Given the description of an element on the screen output the (x, y) to click on. 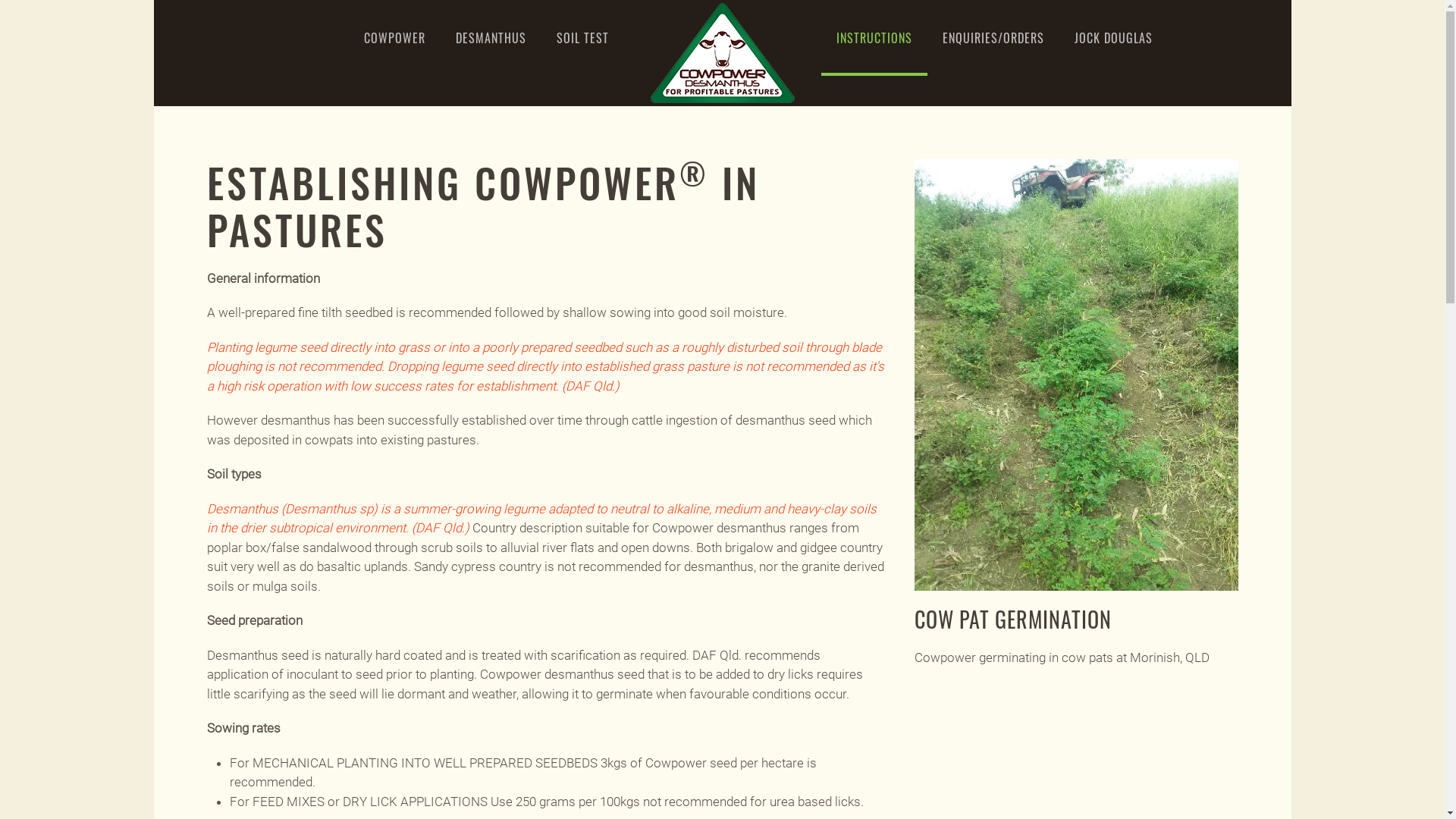
COWPOWER Element type: text (394, 37)
JOCK DOUGLAS Element type: text (1112, 37)
ENQUIRIES/ORDERS Element type: text (992, 37)
SOIL TEST Element type: text (582, 37)
DESMANTHUS Element type: text (489, 37)
INSTRUCTIONS Element type: text (873, 37)
